Given the description of an element on the screen output the (x, y) to click on. 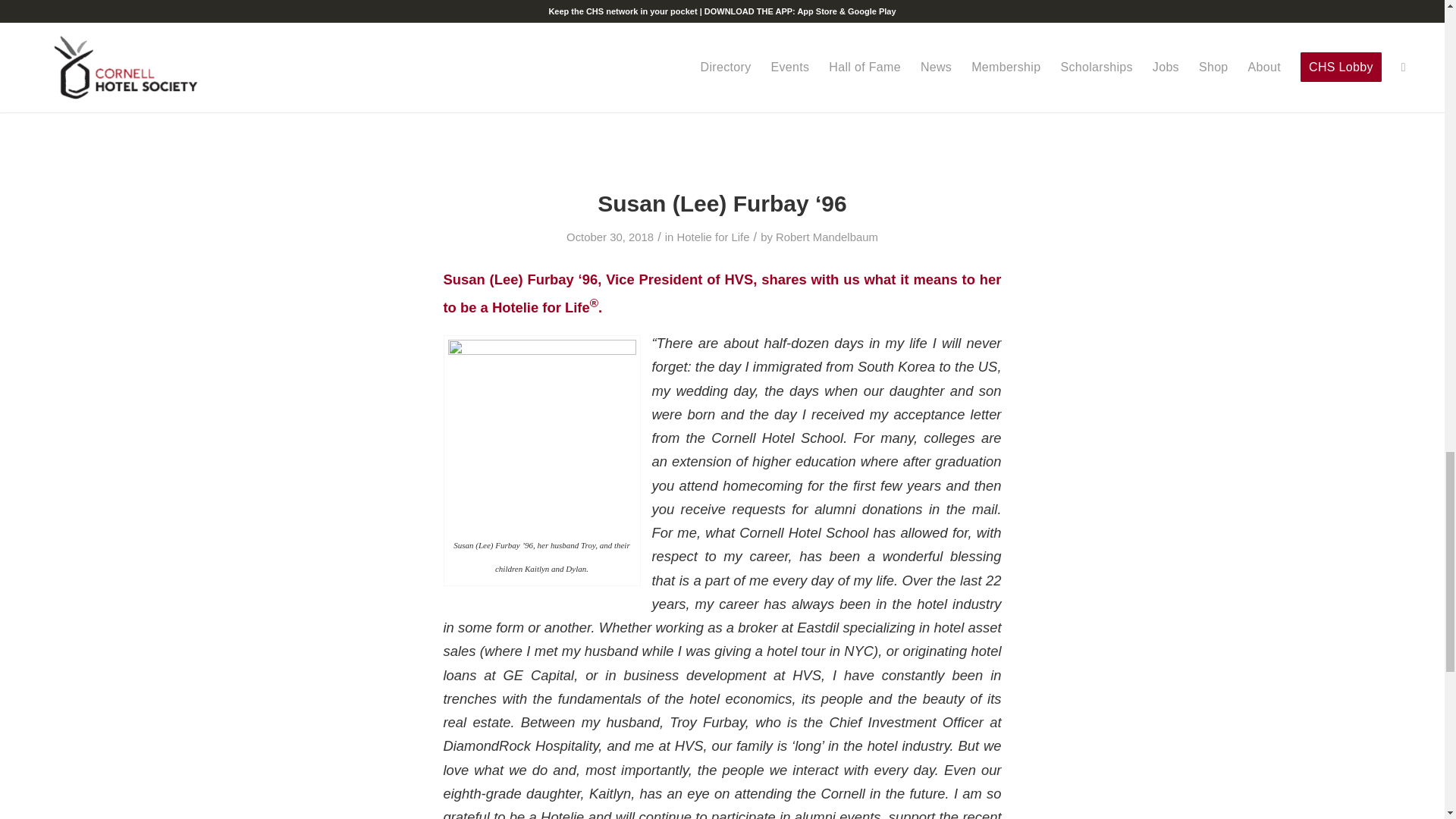
Robert Mandelbaum (826, 236)
Posts by Robert Mandelbaum (826, 236)
Hotelie for Life (713, 236)
